Given the description of an element on the screen output the (x, y) to click on. 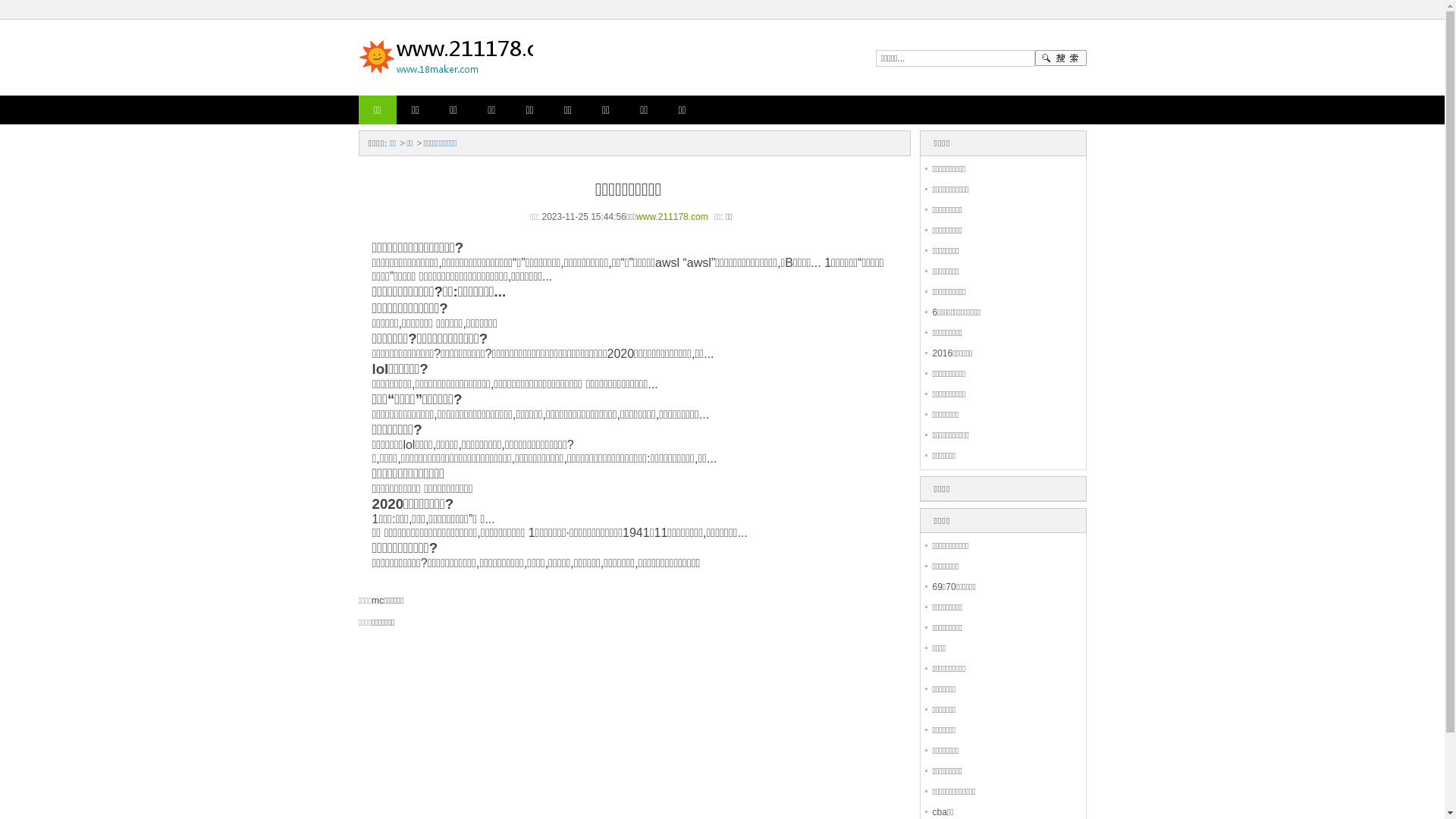
www.211178.com Element type: text (672, 216)
